Given the description of an element on the screen output the (x, y) to click on. 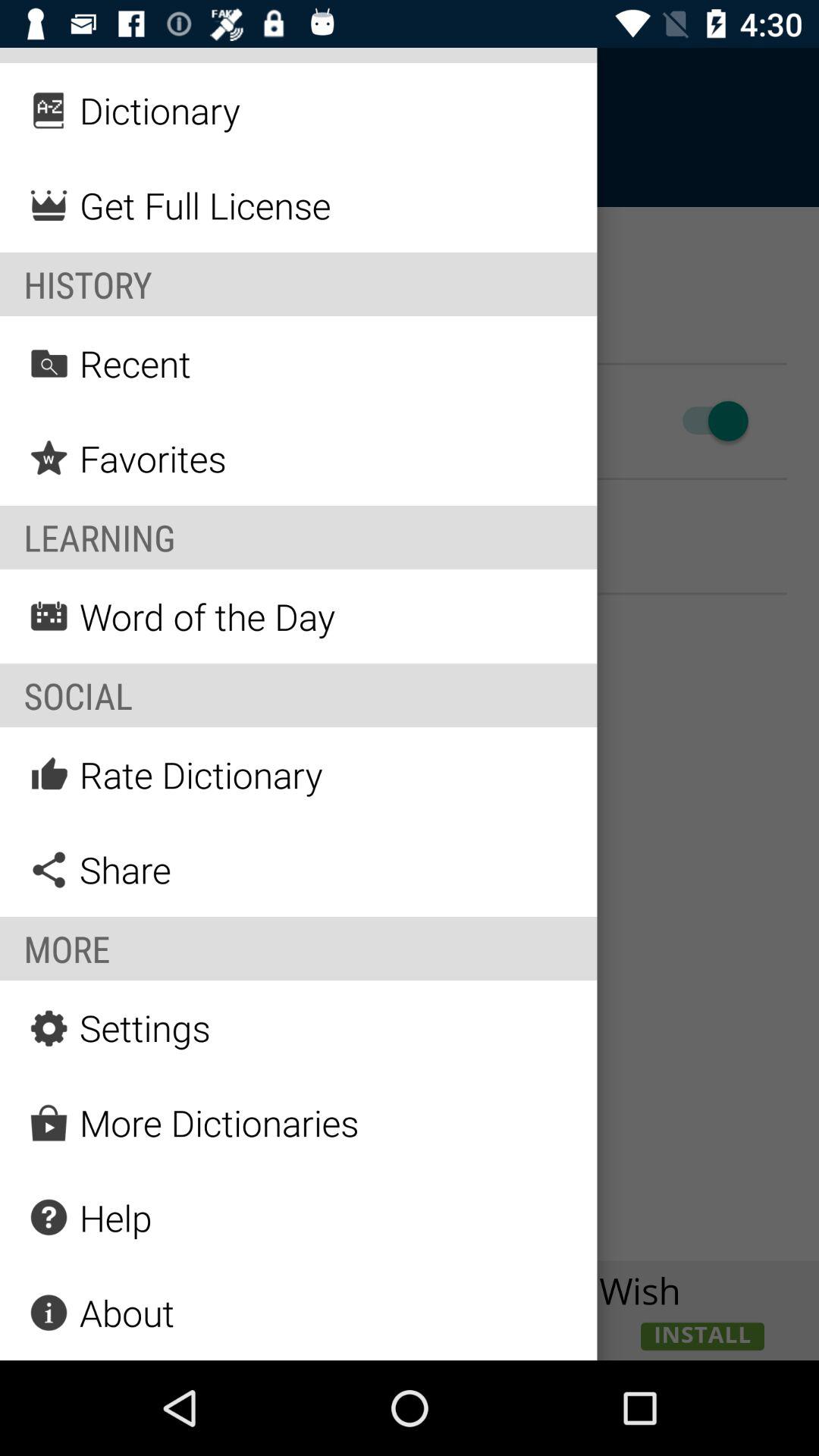
select the icon share (49, 869)
select the logo below az (49, 205)
click on second icon which is below history (49, 458)
